Given the description of an element on the screen output the (x, y) to click on. 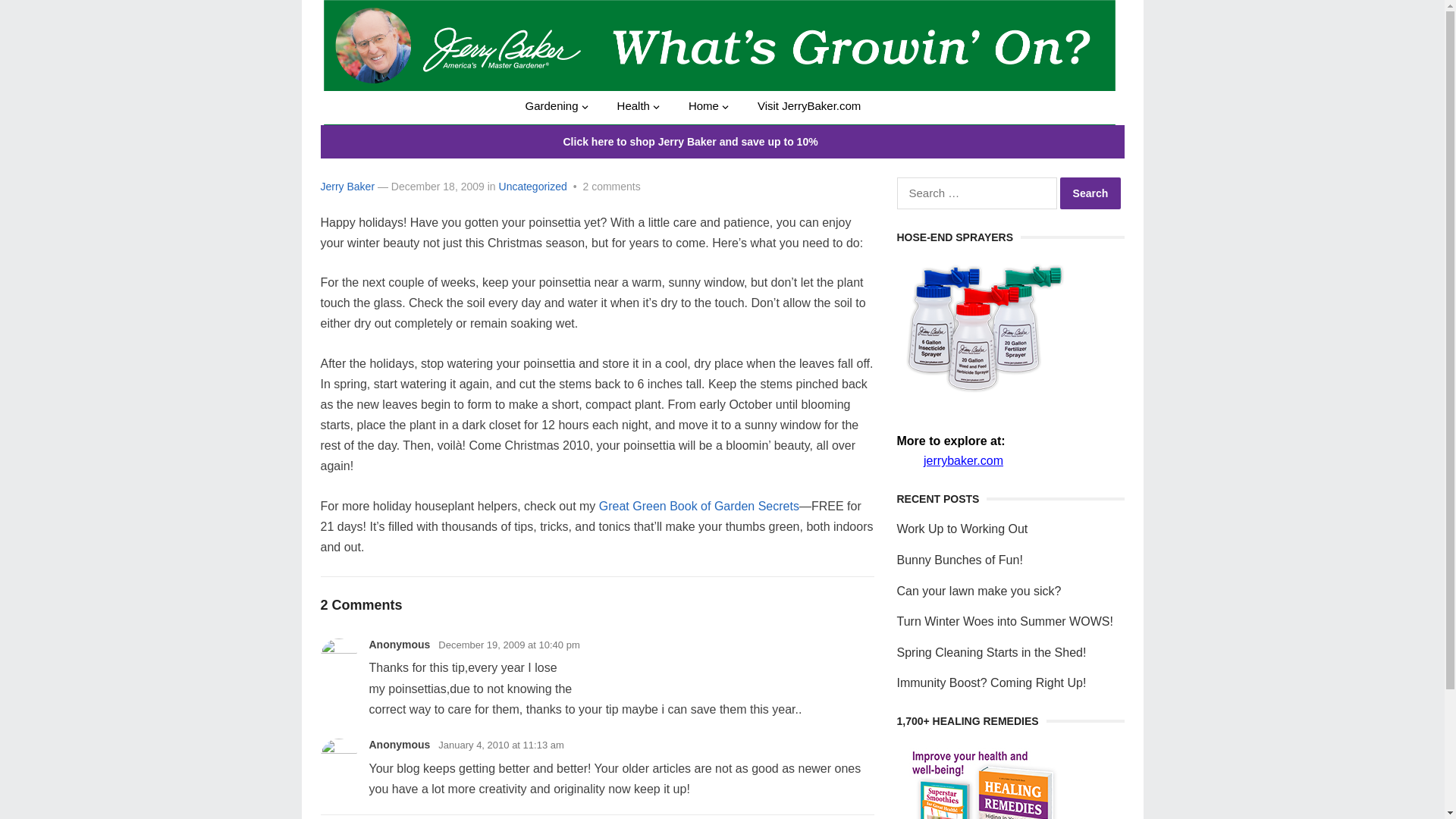
Great Green Book of Garden Secrets (698, 505)
Visit JerryBaker.com (809, 105)
View all posts in Uncategorized (533, 186)
Home (706, 105)
Search (1090, 193)
Uncategorized (533, 186)
Search (1090, 193)
Jerry Baker (347, 186)
Health (637, 105)
Posts by Jerry Baker (347, 186)
2 comments (611, 186)
Gardening (554, 105)
